Given the description of an element on the screen output the (x, y) to click on. 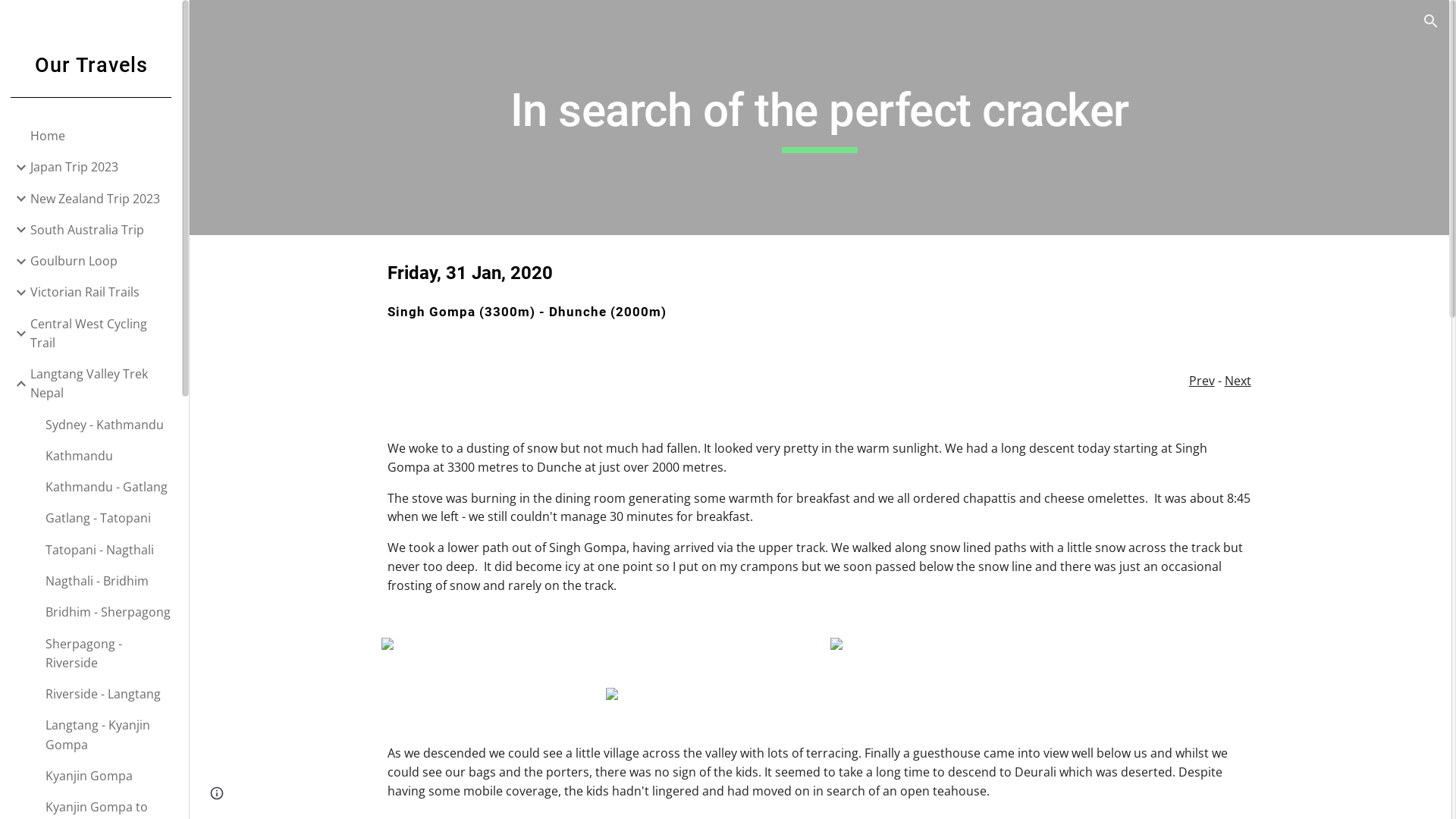
Gatlang - Tatopani Element type: text (107, 517)
Sydney - Kathmandu Element type: text (107, 424)
Japan Trip 2023 Element type: text (99, 166)
Expand/Collapse Element type: hover (16, 383)
Expand/Collapse Element type: hover (16, 167)
Langtang Valley Trek Nepal Element type: text (99, 383)
Expand/Collapse Element type: hover (16, 198)
Expand/Collapse Element type: hover (16, 333)
Expand/Collapse Element type: hover (16, 292)
Expand/Collapse Element type: hover (16, 229)
Kyanjin Gompa Element type: text (107, 775)
Nagthali - Bridhim Element type: text (107, 580)
Kathmandu Element type: text (107, 455)
Our Travels Element type: text (91, 83)
Kathmandu - Gatlang Element type: text (107, 486)
Riverside - Langtang Element type: text (107, 693)
Victorian Rail Trails Element type: text (99, 291)
Langtang - Kyanjin Gompa Element type: text (107, 734)
Sherpagong - Riverside Element type: text (107, 653)
Home Element type: text (99, 135)
South Australia Trip Element type: text (99, 229)
Bridhim - Sherpagong Element type: text (107, 611)
New Zealand Trip 2023 Element type: text (99, 198)
Goulburn Loop Element type: text (99, 260)
Next Element type: text (1237, 380)
Prev Element type: text (1201, 380)
Central West Cycling Trail Element type: text (99, 333)
Expand/Collapse Element type: hover (16, 261)
Tatopani - Nagthali Element type: text (107, 549)
